Given the description of an element on the screen output the (x, y) to click on. 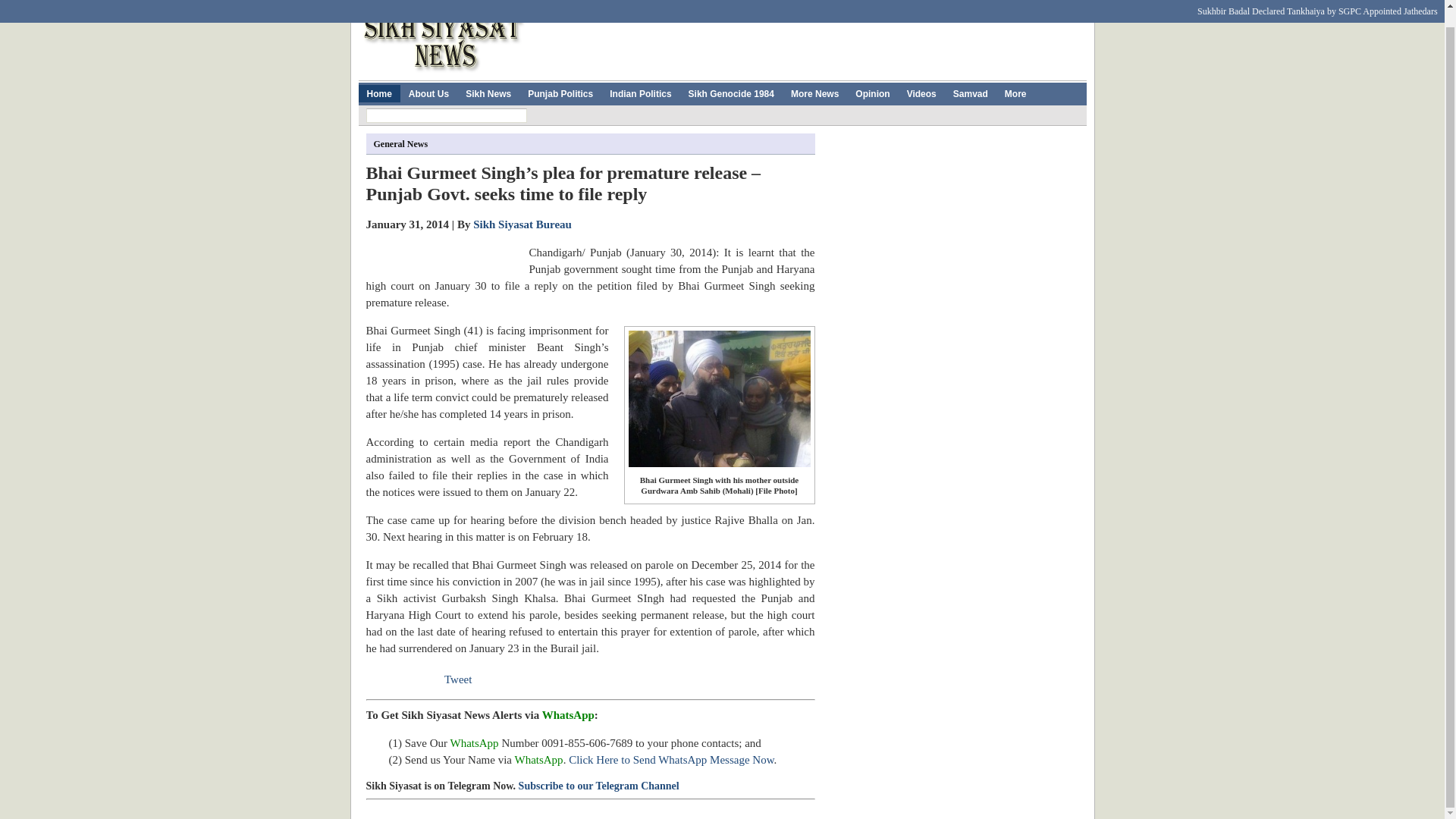
Sikh Genocide 1984 (731, 93)
More (1015, 93)
About Us (428, 93)
Samvad (969, 93)
Punjab Politics (560, 93)
Posts by Sikh Siyasat Bureau (522, 224)
Indian Politics (640, 93)
Opinion (872, 93)
Videos (921, 93)
More News (815, 93)
